Given the description of an element on the screen output the (x, y) to click on. 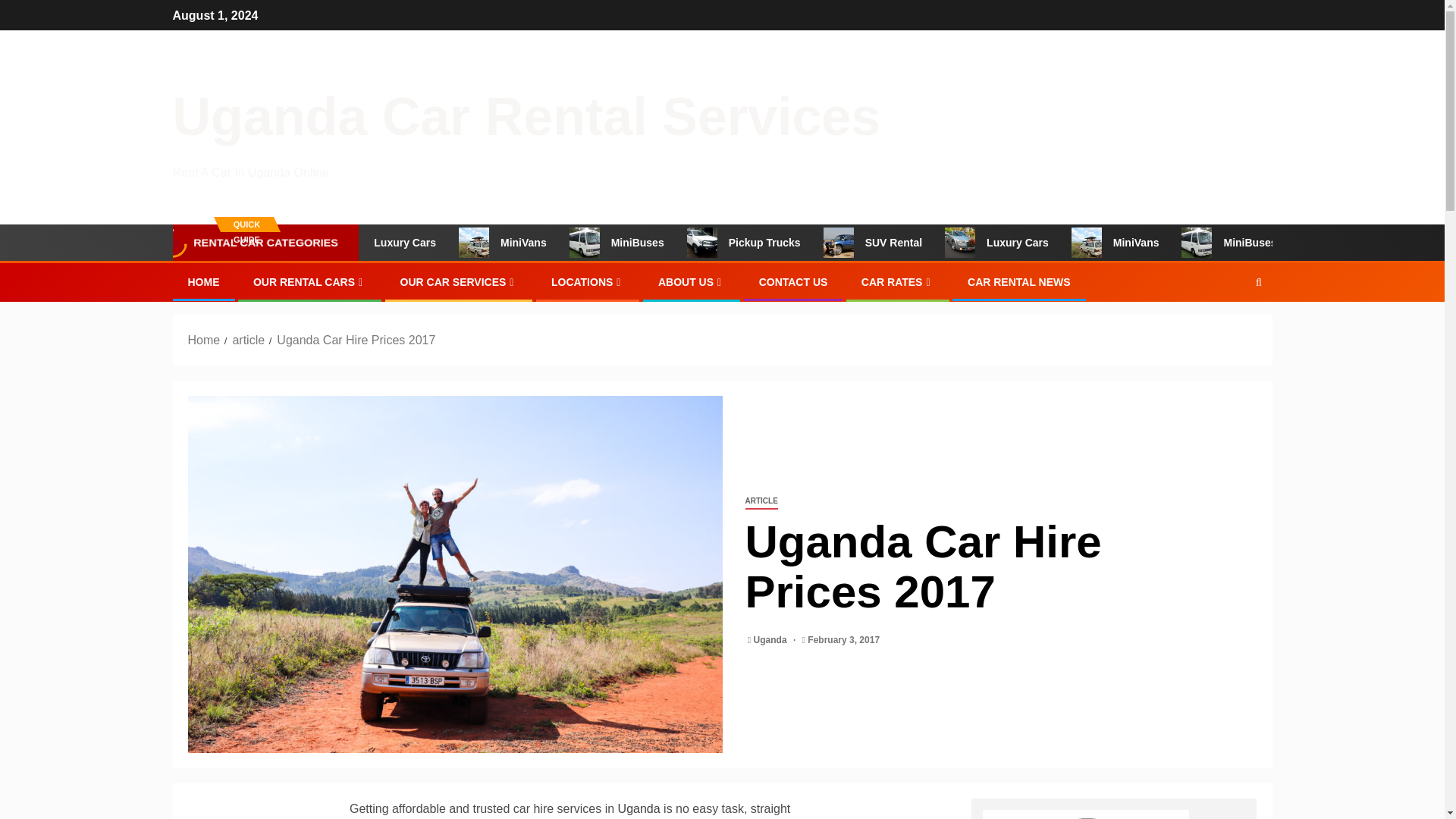
MiniVans (545, 242)
SUV Rental (913, 242)
MiniBuses (658, 242)
Luxury Cars (1037, 242)
Pickup Trucks (785, 242)
OUR RENTAL CARS (309, 282)
MiniVans (1155, 242)
Luxury Cars (427, 242)
HOME (203, 282)
Uganda Car Rental Services (526, 116)
